Given the description of an element on the screen output the (x, y) to click on. 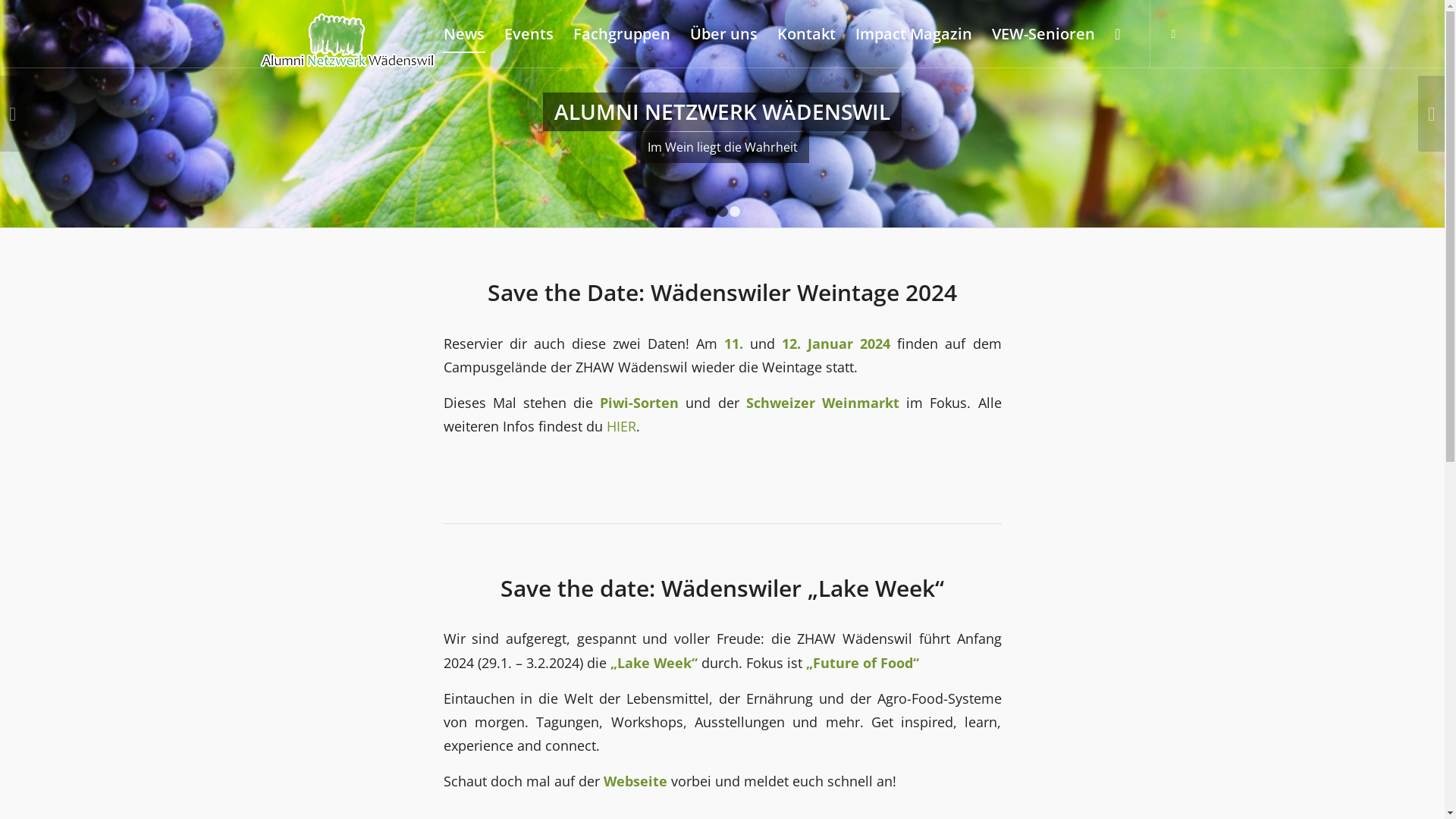
3 Element type: text (734, 211)
Impact Magazin Element type: text (913, 33)
Events Element type: text (528, 33)
Webseite Element type: text (635, 780)
Weiter Element type: text (1431, 113)
LinkedIn Element type: hover (1172, 32)
VEW-Senioren Element type: text (1043, 33)
HIER Element type: text (621, 425)
Fachgruppen Element type: text (621, 33)
1 Element type: text (710, 211)
2 Element type: text (722, 211)
Kontakt Element type: text (806, 33)
News Element type: text (463, 33)
